Given the description of an element on the screen output the (x, y) to click on. 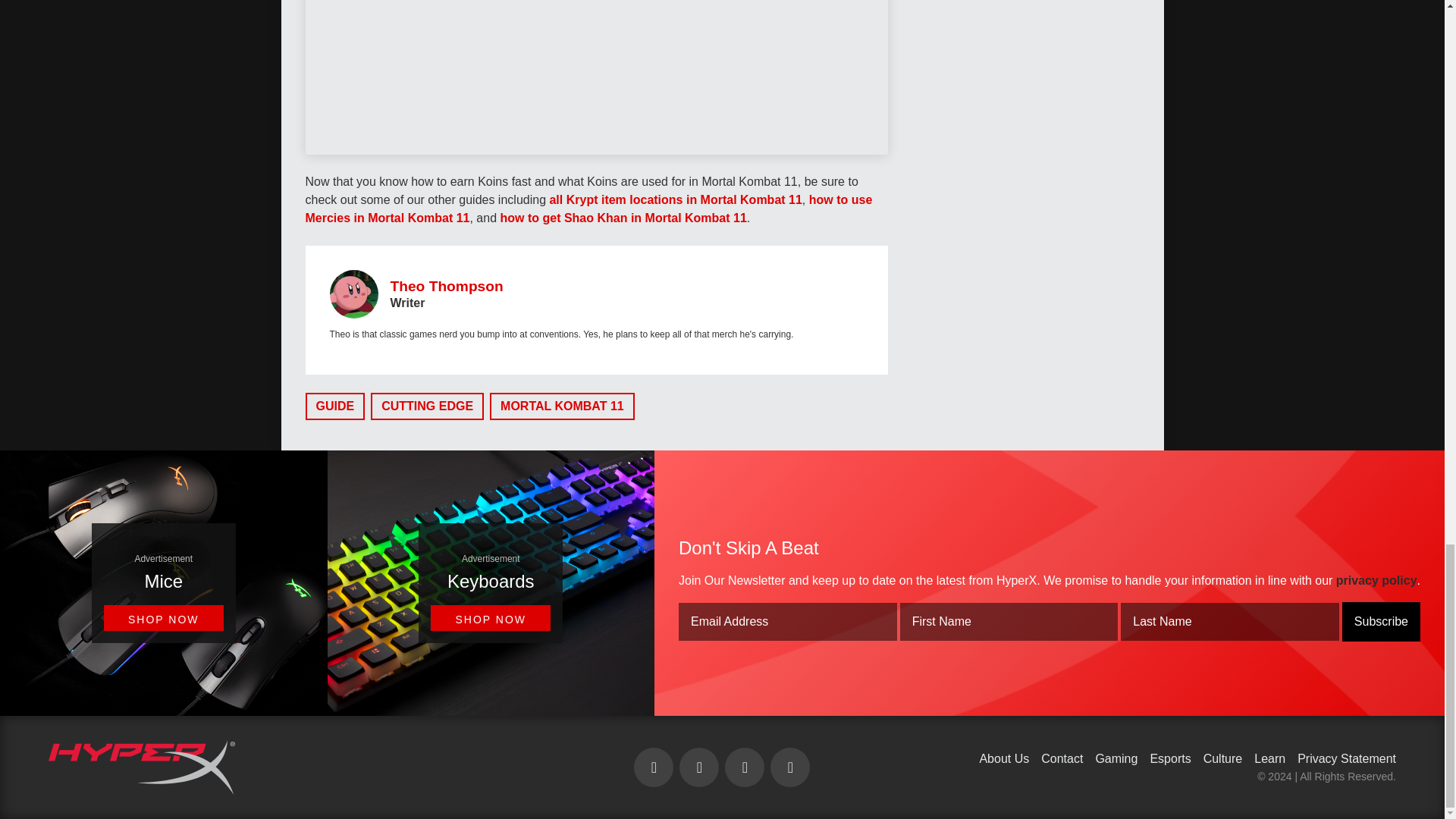
how to use Mercies in Mortal Kombat 11 (588, 208)
MORTAL KOMBAT 11 (561, 406)
privacy policy (1376, 580)
CUTTING EDGE (427, 406)
Subscribe (1381, 621)
GUIDE (334, 406)
Contact (1062, 758)
SHOP NOW (163, 617)
Learn (1269, 758)
SHOP NOW (490, 617)
Theo Thompson (446, 286)
all Krypt item locations in Mortal Kombat 11 (675, 199)
Culture (1223, 758)
Esports (1170, 758)
Subscribe (1381, 621)
